Given the description of an element on the screen output the (x, y) to click on. 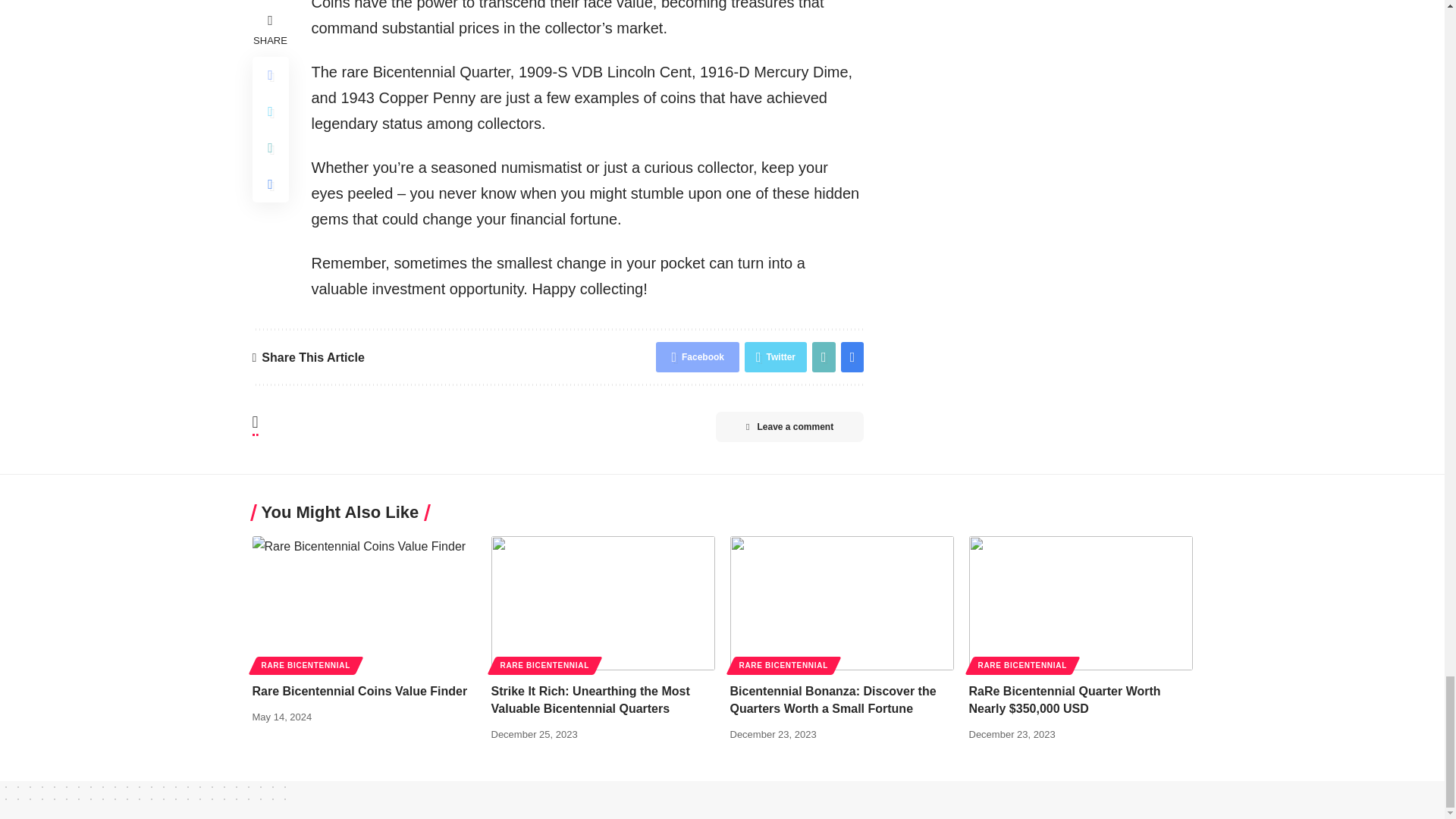
Facebook (697, 357)
Leave a comment (789, 426)
Twitter (775, 357)
Rare Bicentennial Coins Value Finder (363, 603)
